Given the description of an element on the screen output the (x, y) to click on. 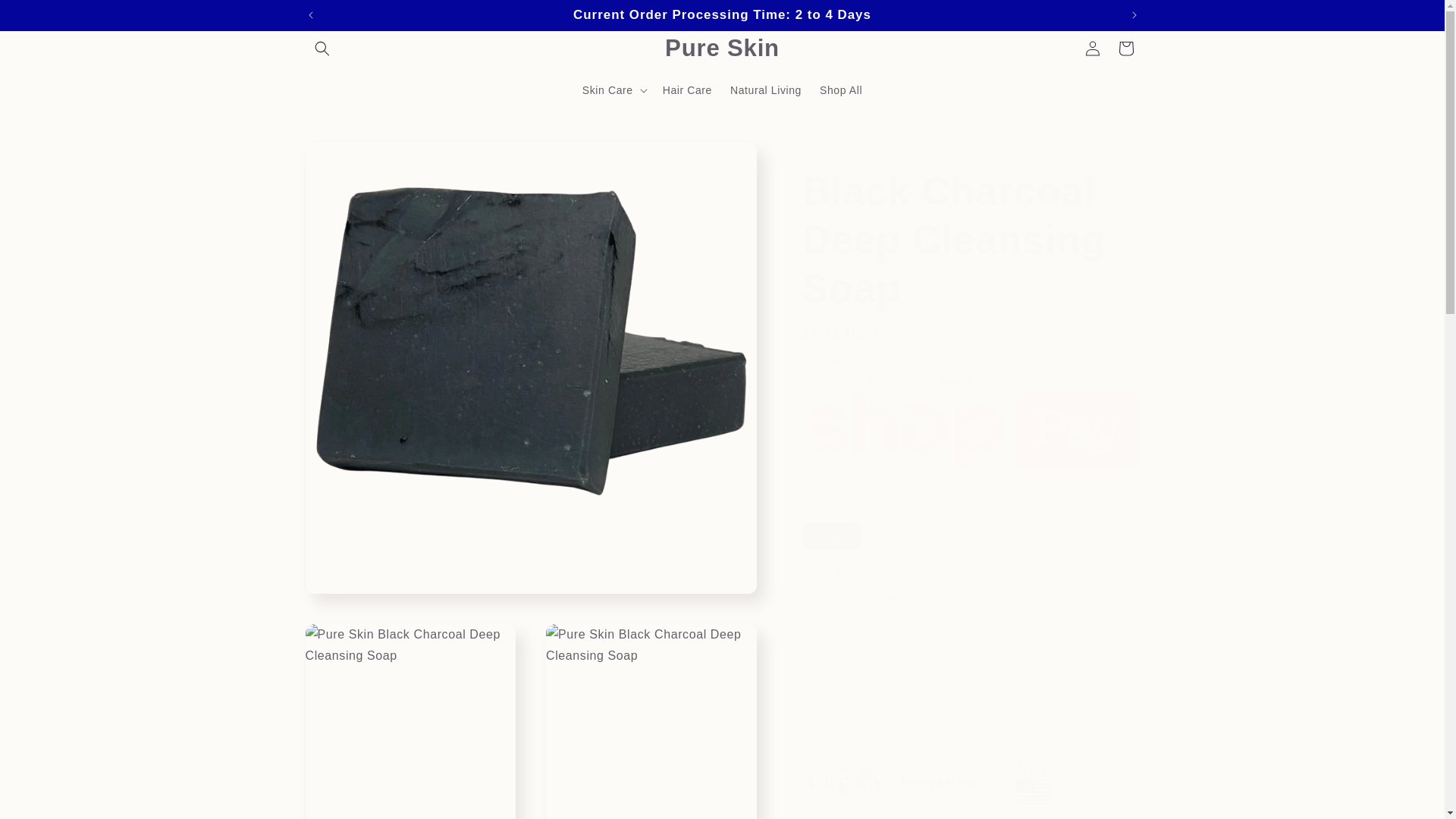
Natural Living (765, 90)
Skip to product information (350, 159)
Pure Skin (722, 48)
Log in (1091, 48)
Hair Care (686, 90)
Open media 3 in modal (651, 721)
Open media 2 in modal (409, 721)
Cart (1124, 48)
Skip to content (45, 17)
1 (856, 599)
Shop All (840, 90)
